Given the description of an element on the screen output the (x, y) to click on. 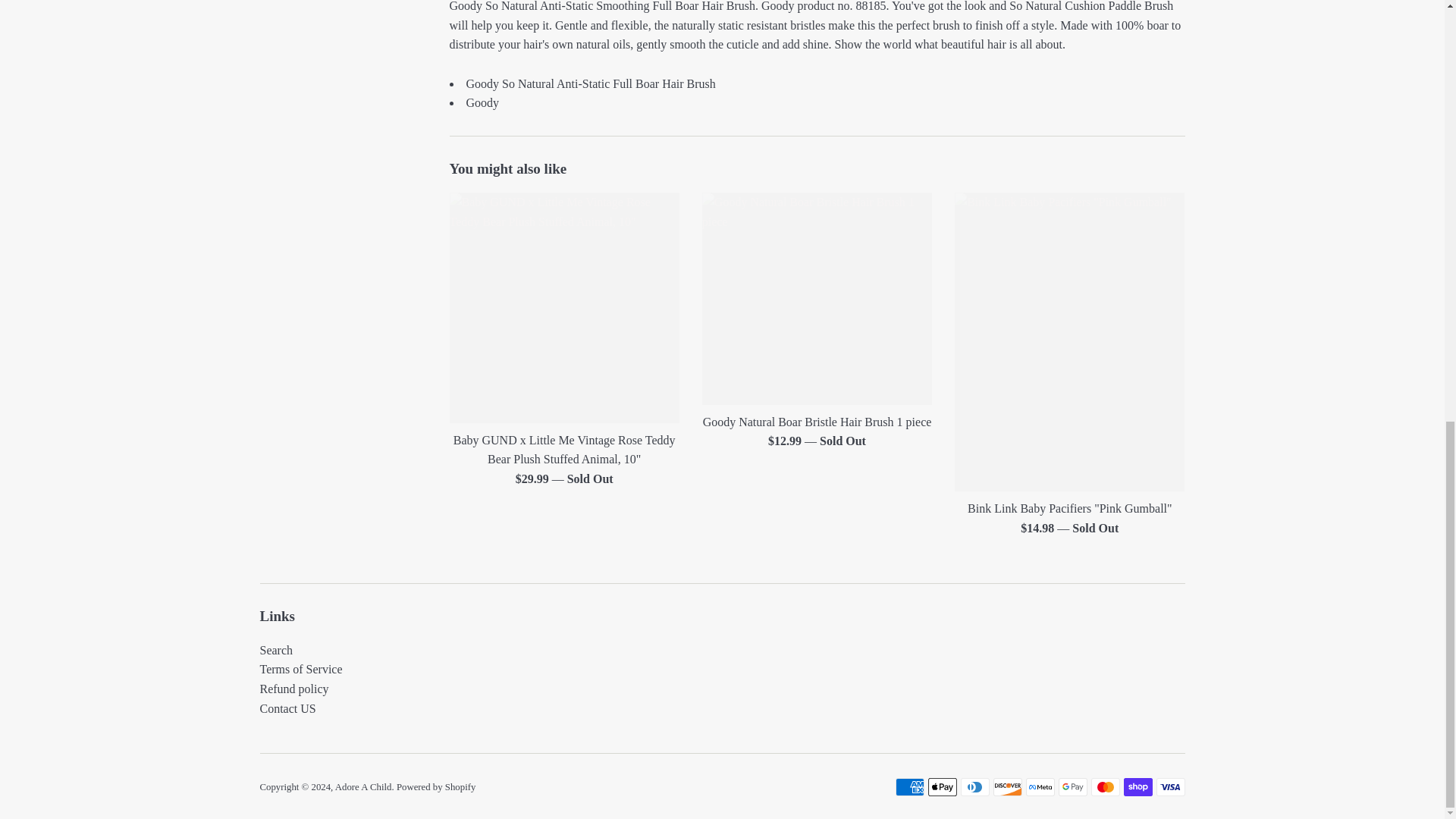
Goody Natural Boar Bristle Hair Brush 1 piece (816, 298)
Diners Club (973, 787)
American Express (909, 787)
Mastercard (1104, 787)
Shop Pay (1138, 787)
Google Pay (1072, 787)
Apple Pay (942, 787)
Visa (1170, 787)
Bink Link Baby Pacifiers "Pink Gumball" (1070, 341)
Discover (1007, 787)
Meta Pay (1039, 787)
